Given the description of an element on the screen output the (x, y) to click on. 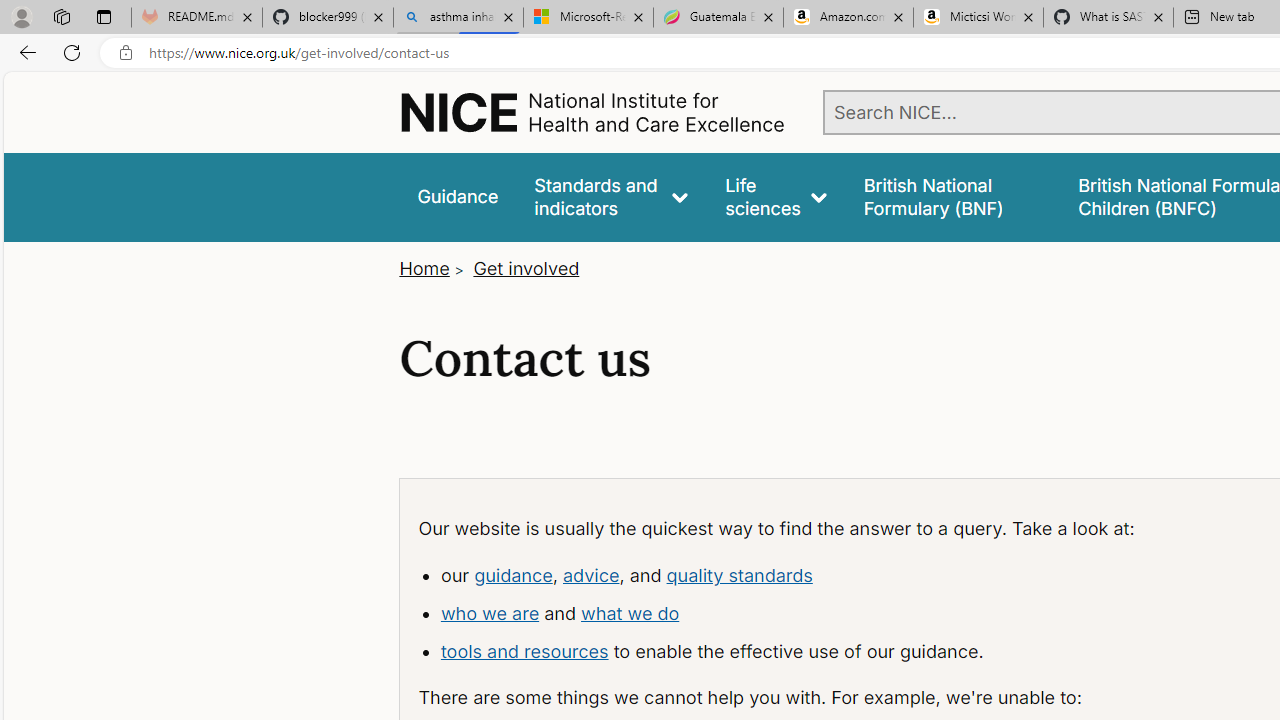
false (952, 196)
who we are (490, 612)
what we do (630, 612)
Home> (433, 268)
quality standards (738, 574)
Get involved (526, 268)
